Given the description of an element on the screen output the (x, y) to click on. 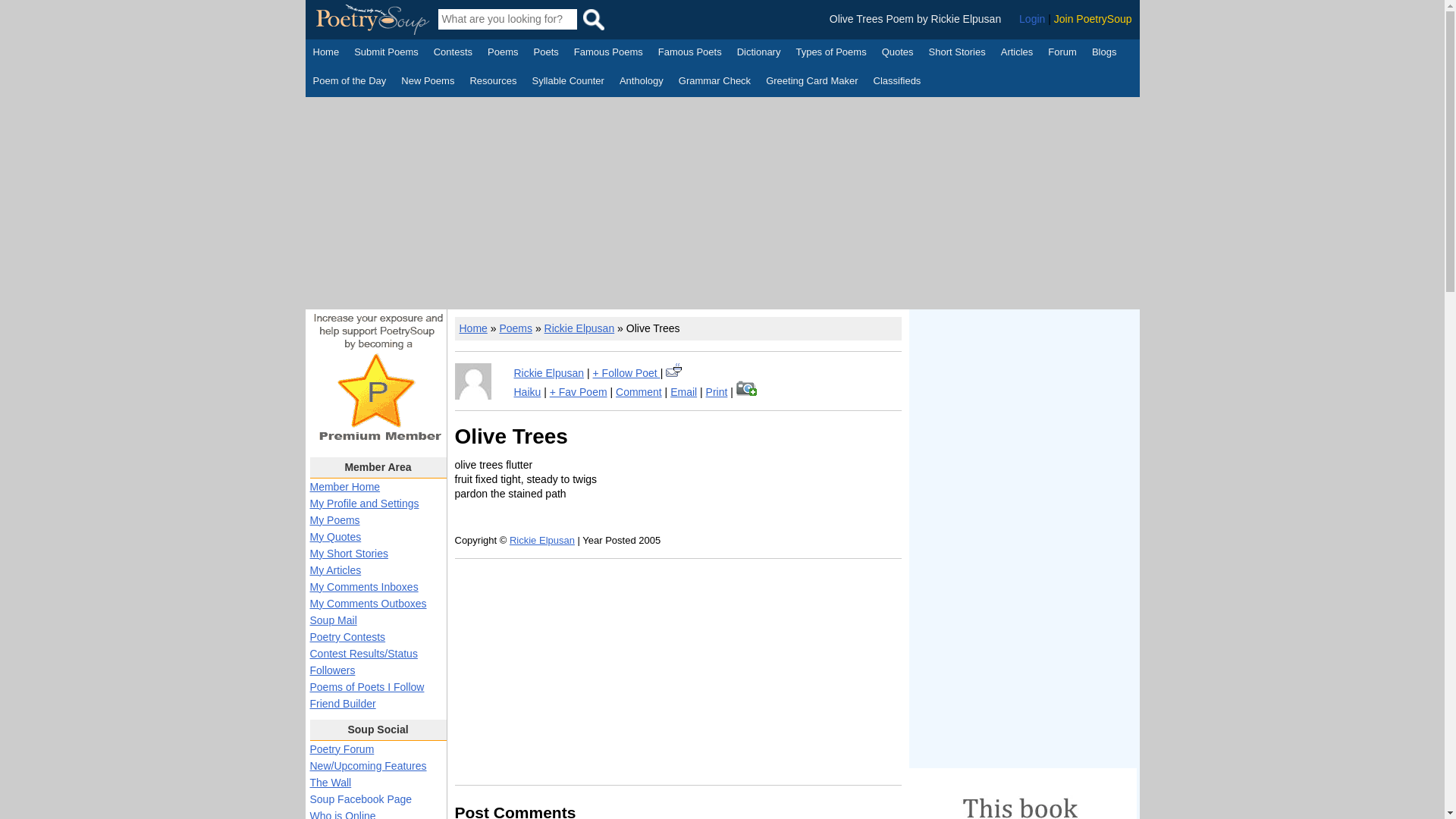
New Poems (427, 82)
Login (1032, 19)
Poets (546, 53)
Poem of the Day (349, 82)
Member Home (344, 486)
Blogs (1104, 53)
Classifieds (897, 82)
Grammar Check (714, 82)
Poems (502, 53)
Famous Poems (608, 53)
Anthology (641, 82)
PoetrySoup Registration (1093, 19)
My Profile and Settings (363, 503)
Quotes (898, 53)
Contests (452, 53)
